Given the description of an element on the screen output the (x, y) to click on. 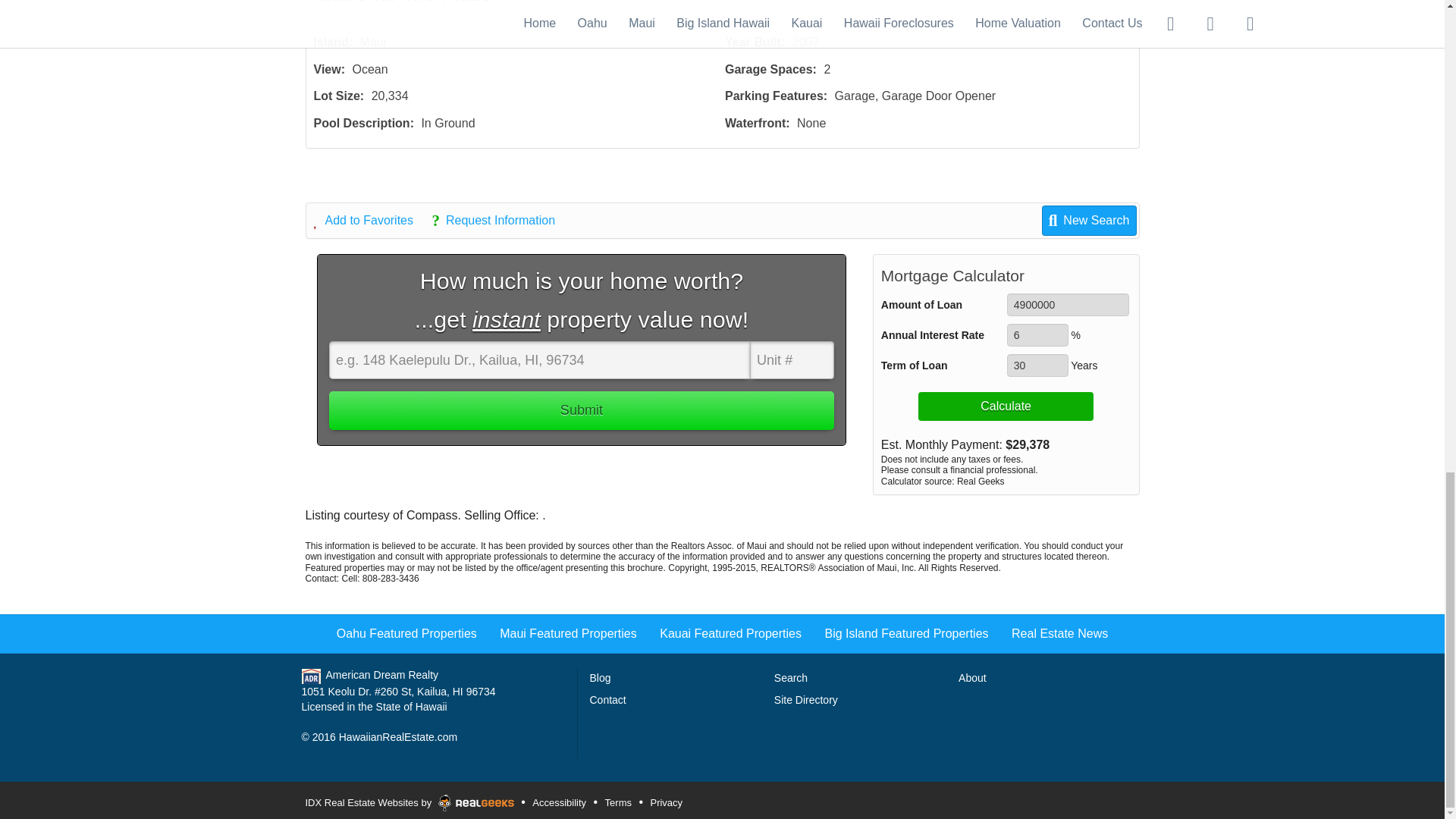
30 (1037, 364)
4900000 (1068, 304)
6 (1037, 334)
